Given the description of an element on the screen output the (x, y) to click on. 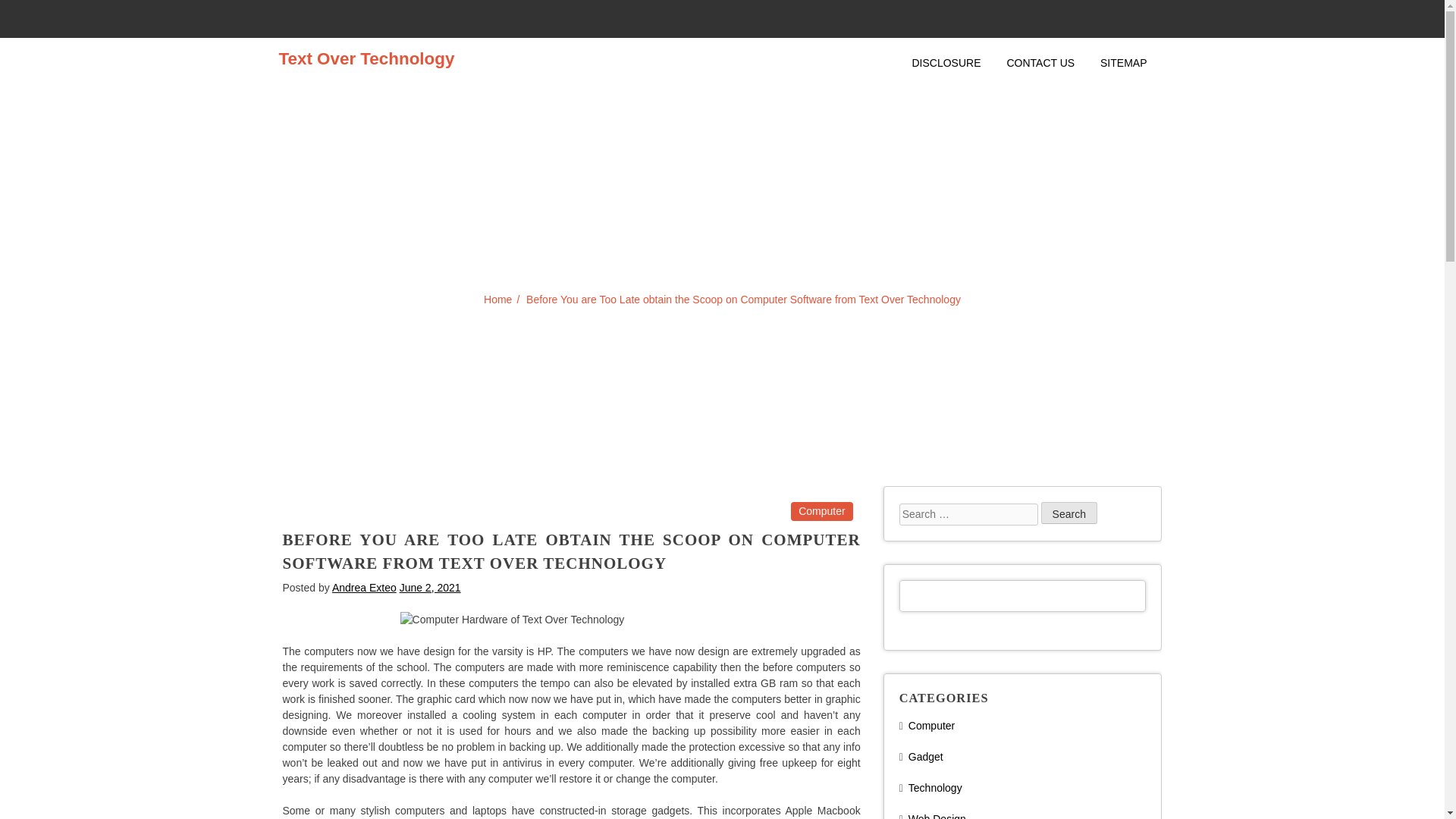
CONTACT US (1040, 63)
Search (1069, 513)
Web Design (937, 816)
Computer (820, 510)
Technology (935, 787)
Home (497, 298)
June 2, 2021 (429, 586)
Gadget (925, 756)
Andrea Exteo (363, 586)
